Given the description of an element on the screen output the (x, y) to click on. 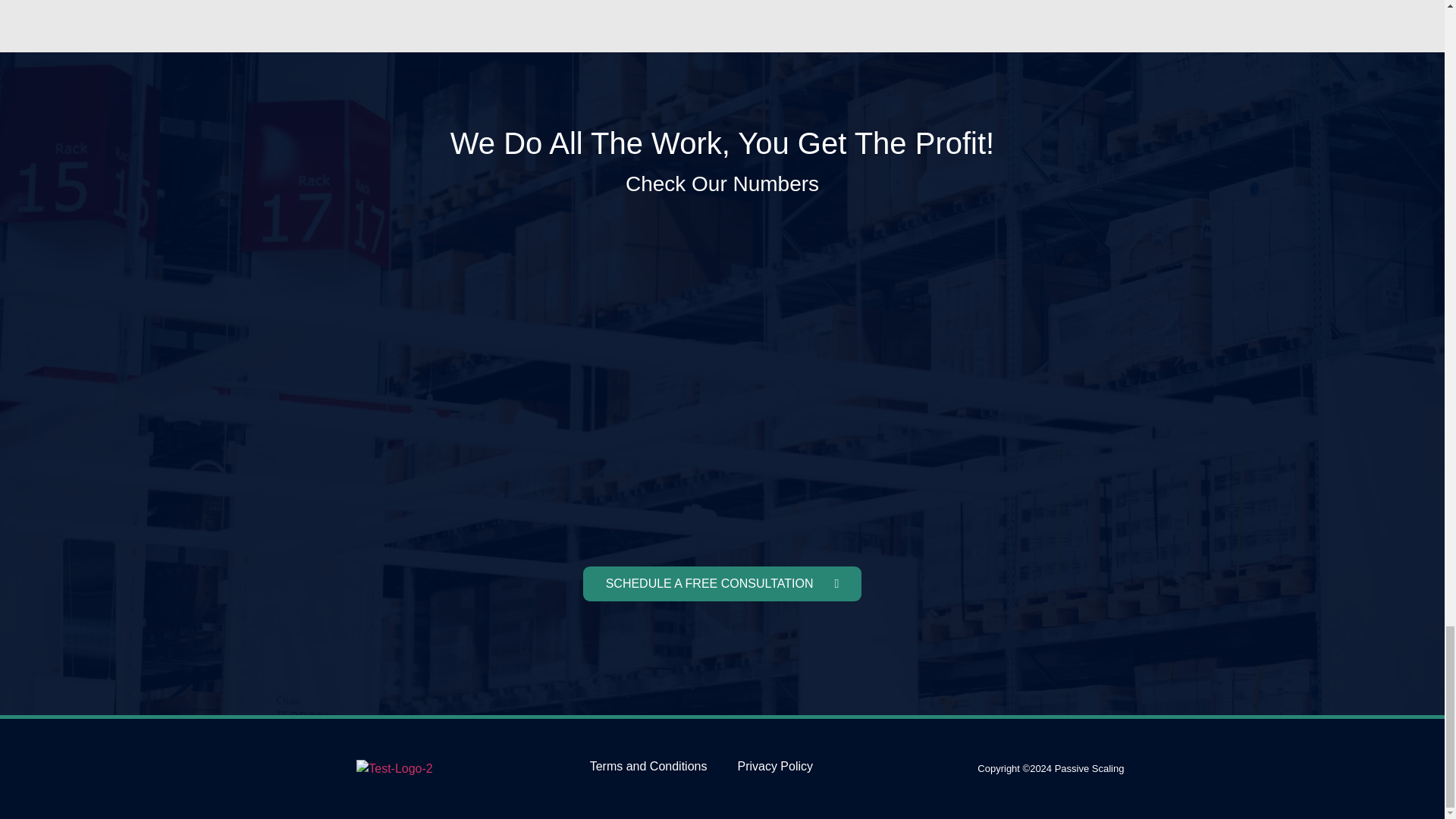
Terms and Conditions (648, 766)
SCHEDULE A FREE CONSULTATION (722, 583)
Privacy Policy (775, 766)
Test-Logo-2 (394, 769)
